Given the description of an element on the screen output the (x, y) to click on. 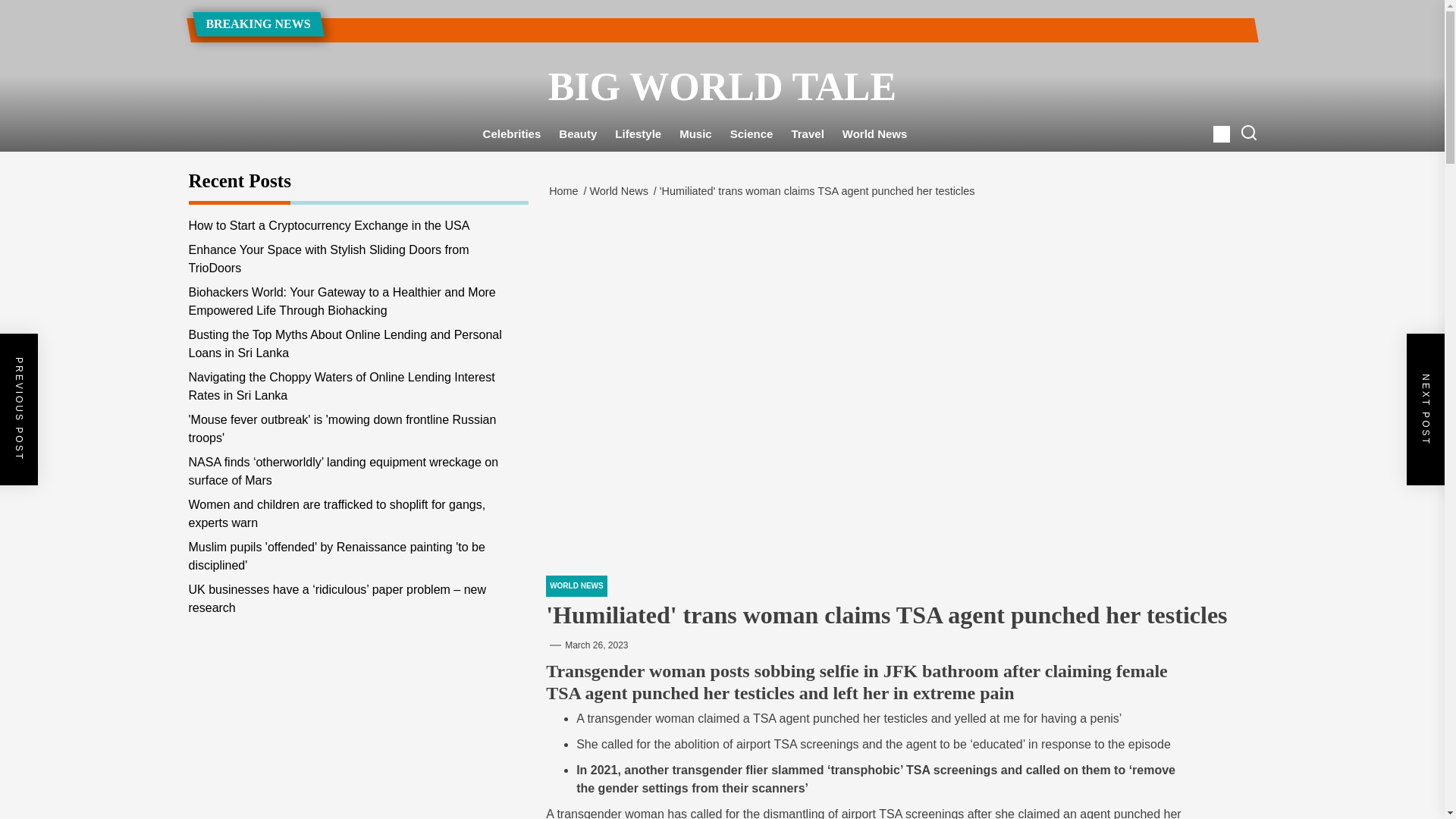
BIG WORLD TALE (721, 86)
Science (751, 134)
WORLD NEWS (576, 586)
Music (694, 134)
Lifestyle (637, 134)
World News (621, 191)
Beauty (577, 134)
Celebrities (512, 134)
Travel (806, 134)
Home (566, 191)
March 26, 2023 (595, 644)
World News (874, 134)
